Given the description of an element on the screen output the (x, y) to click on. 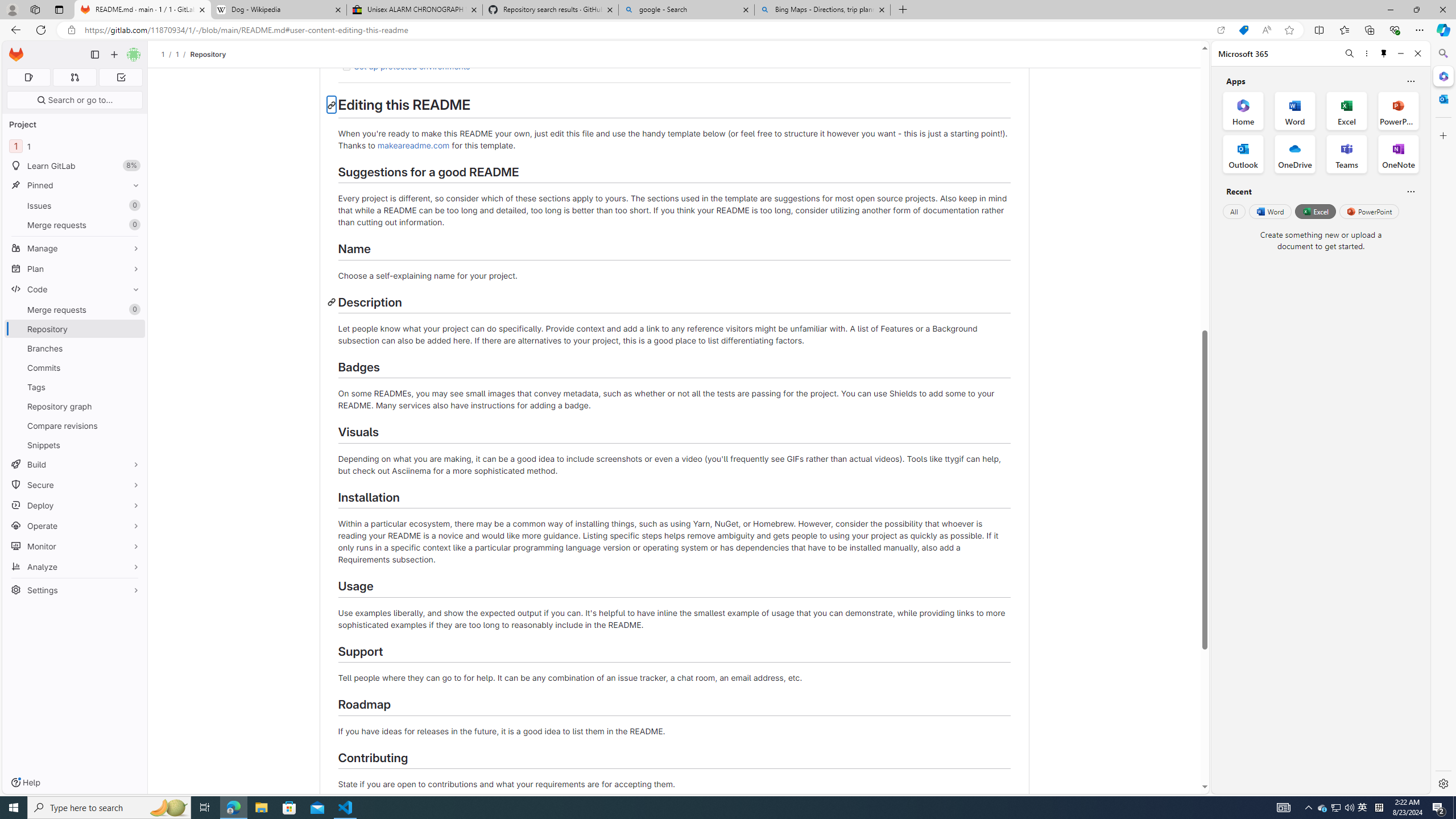
Commits (74, 367)
Secure (74, 484)
Pin Commits (132, 367)
Monitor (74, 546)
Pin Repository graph (132, 406)
Compare revisions (74, 425)
All (1233, 210)
